Given the description of an element on the screen output the (x, y) to click on. 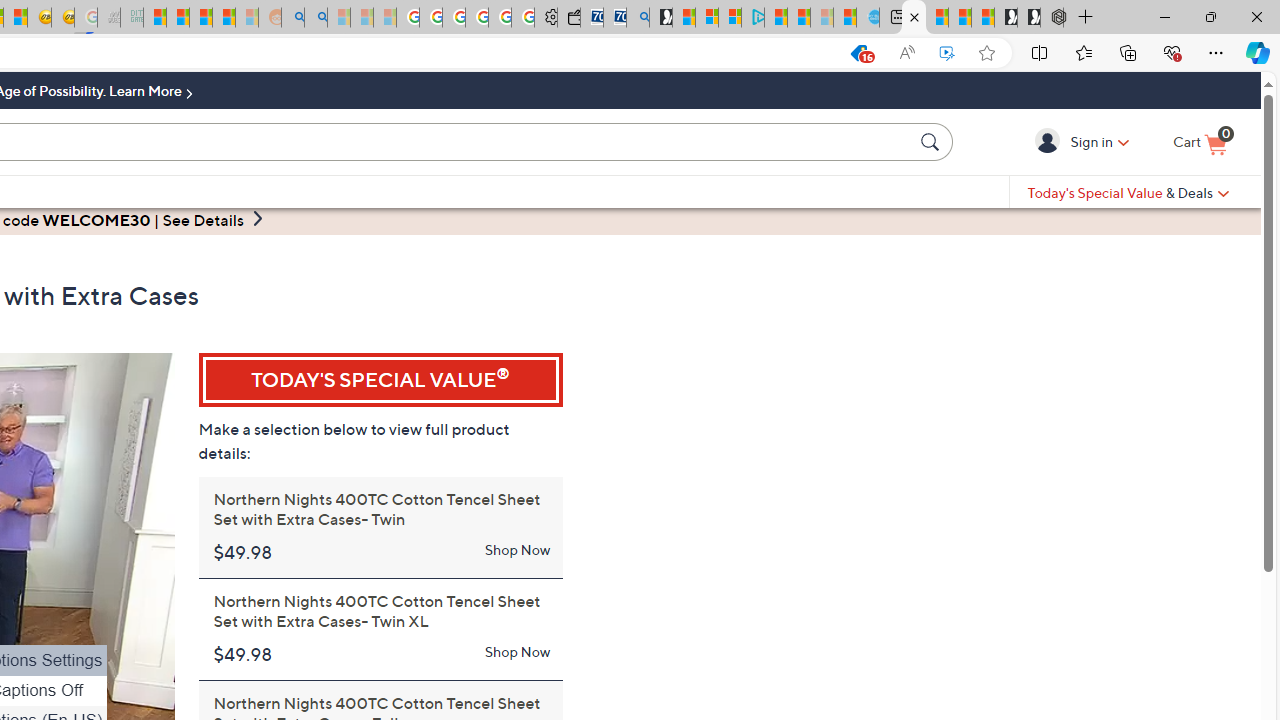
Student Loan Update: Forgiveness Program Ends This Month (223, 17)
